Given the description of an element on the screen output the (x, y) to click on. 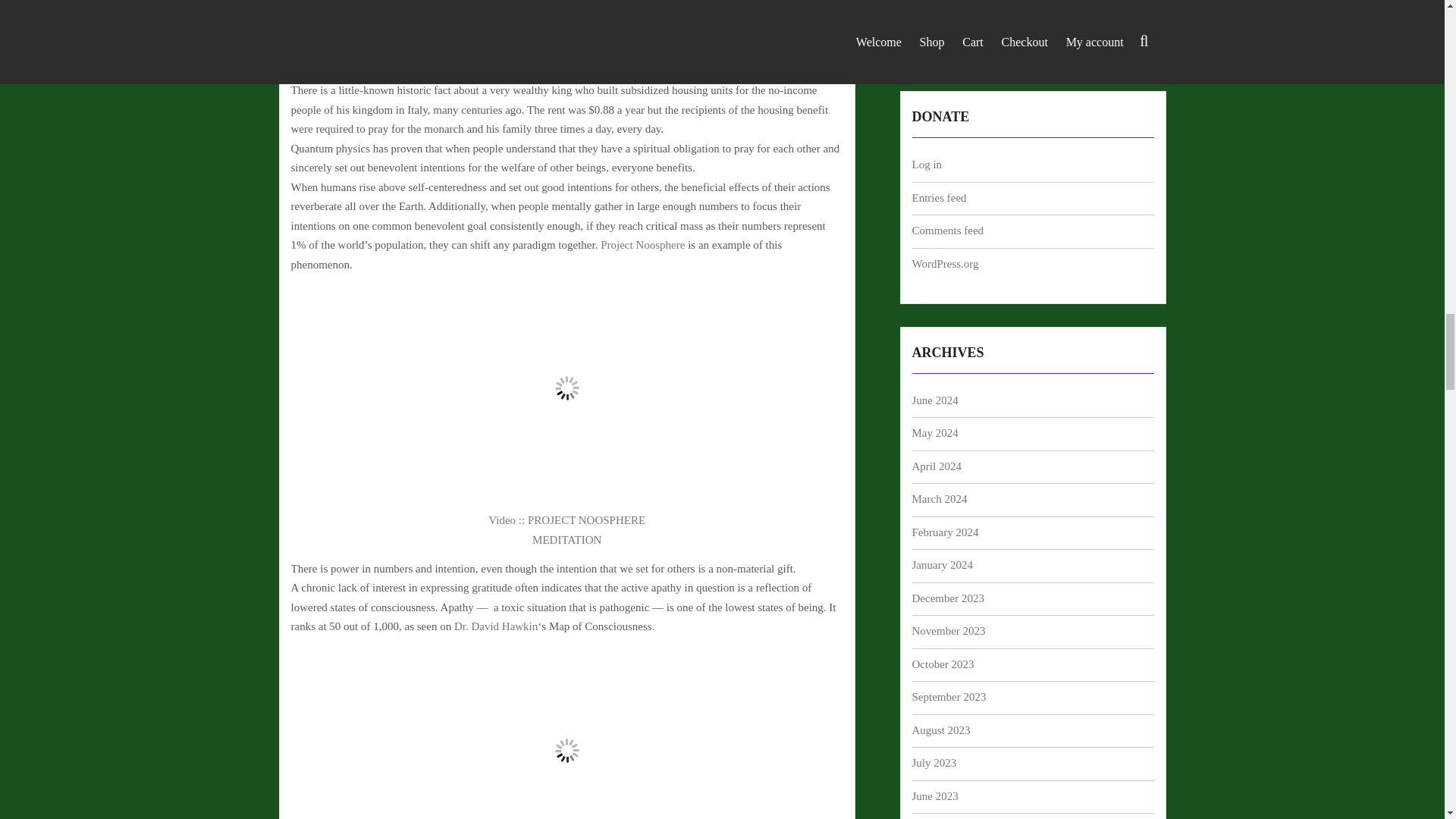
Project Noosphere (641, 244)
Dr. David Hawkin (495, 625)
Video :: PROJECT NOOSPHERE MEDITATION (566, 530)
